Given the description of an element on the screen output the (x, y) to click on. 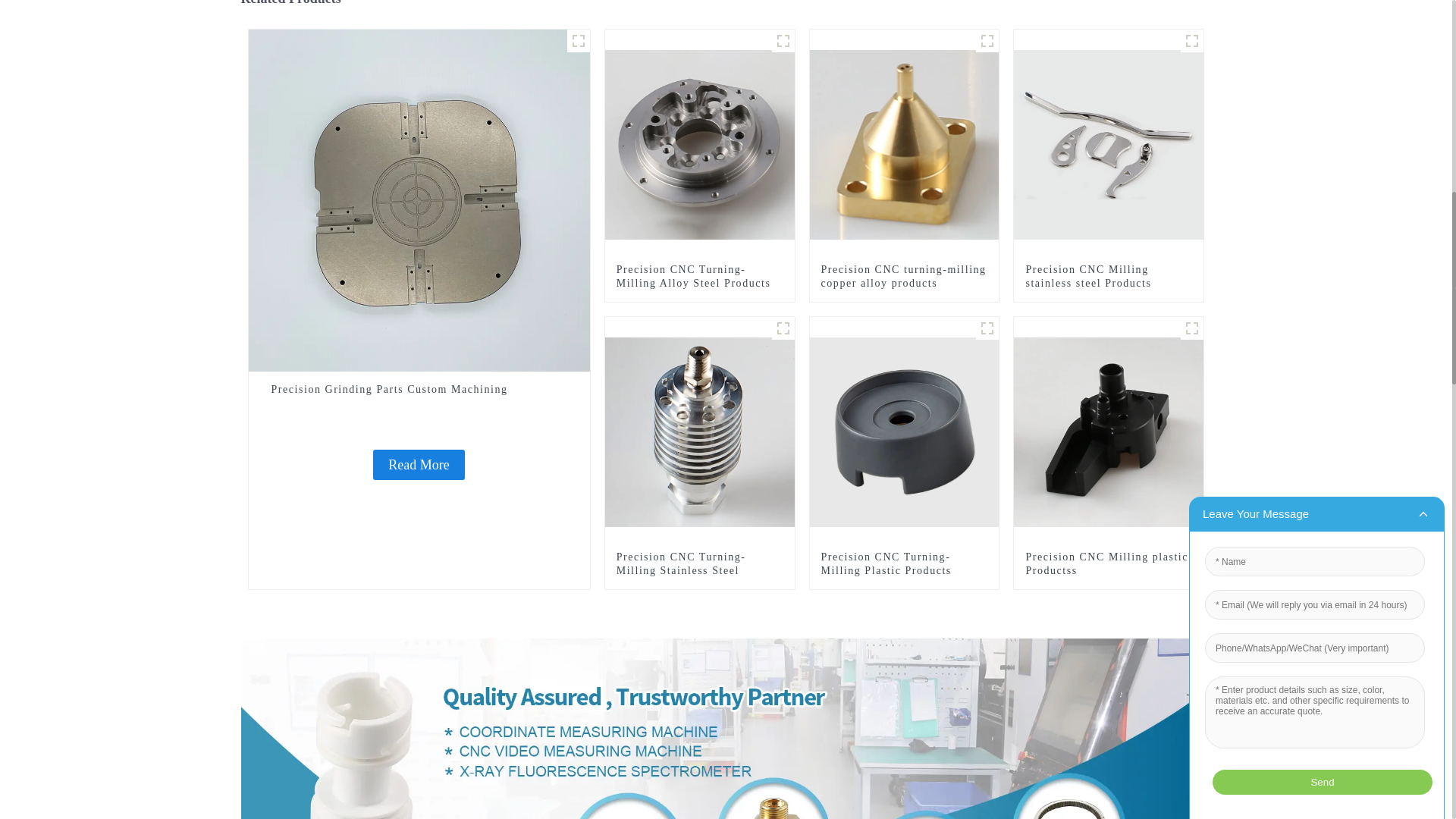
Precision Grinding Parts Custom Machining (418, 464)
Precision Grinding Parts Custom Machining (418, 389)
Read More (418, 464)
Precision CNC turning-milling copper alloy products (904, 276)
Precision CNC Turning-Milling Stainless Steel Products (699, 570)
Precision CNC Turning-Milling Alloy Steel Products (699, 276)
Precision CNC Milling stainless steel Products (1108, 276)
Precision CNC Turning-Milling Plastic Products (903, 430)
Precision CNC turning-milling copper alloy products (904, 276)
Precision CNC turning-milling copper alloy products (903, 142)
Precision CNC Turning-Milling Plastic Products (904, 564)
Precision CNC Turning-Milling Stainless Steel Products (699, 430)
Precision CNC Turning-Milling Alloy Steel Products (699, 276)
Precision Grinding Parts Custom Machining (418, 389)
Precision CNC Milling stainless steel Products (1108, 142)
